Given the description of an element on the screen output the (x, y) to click on. 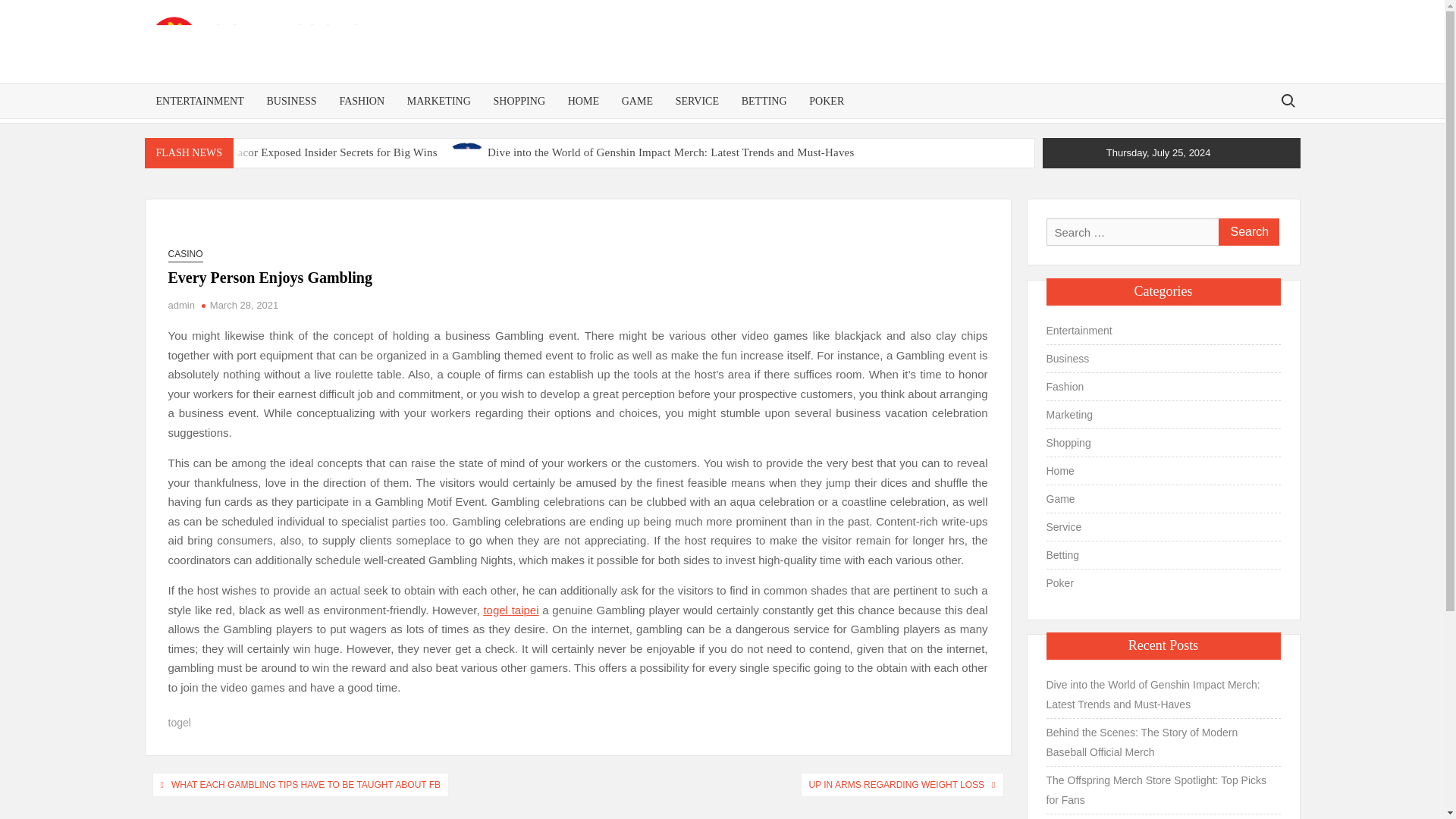
POKER (826, 100)
MARKETING (438, 100)
ENTERTAINMENT (199, 100)
GAME (636, 100)
JOOMLA SPOTS (442, 79)
Situs Slot Gacor Exposed Insider Secrets for Big Wins (309, 152)
SERVICE (696, 100)
BETTING (763, 100)
HOME (583, 100)
SHOPPING (518, 100)
Search for: (1287, 100)
Search (1247, 231)
